Given the description of an element on the screen output the (x, y) to click on. 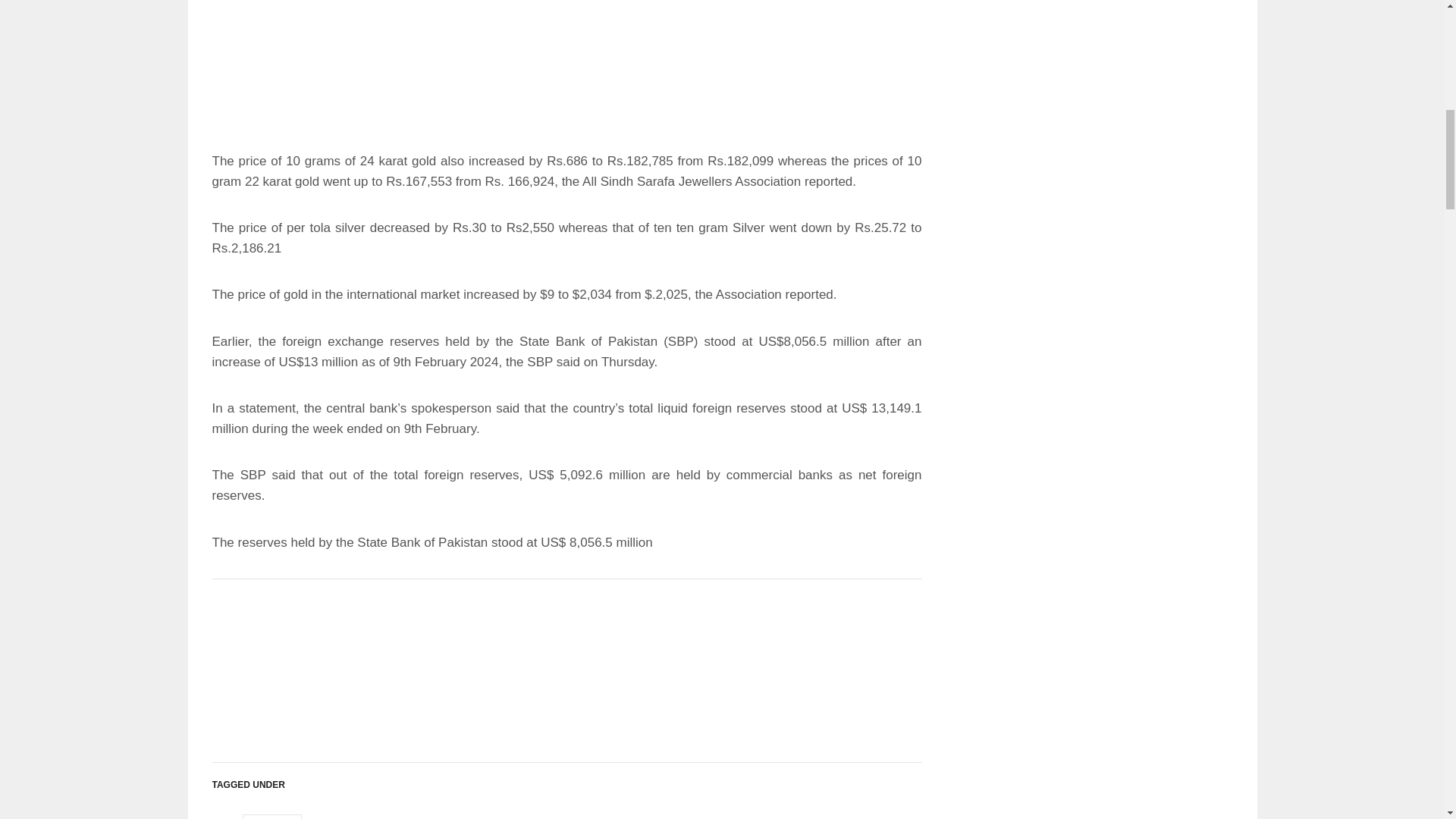
Advertisement (566, 661)
Advertisement (566, 65)
gold price (271, 816)
